Given the description of an element on the screen output the (x, y) to click on. 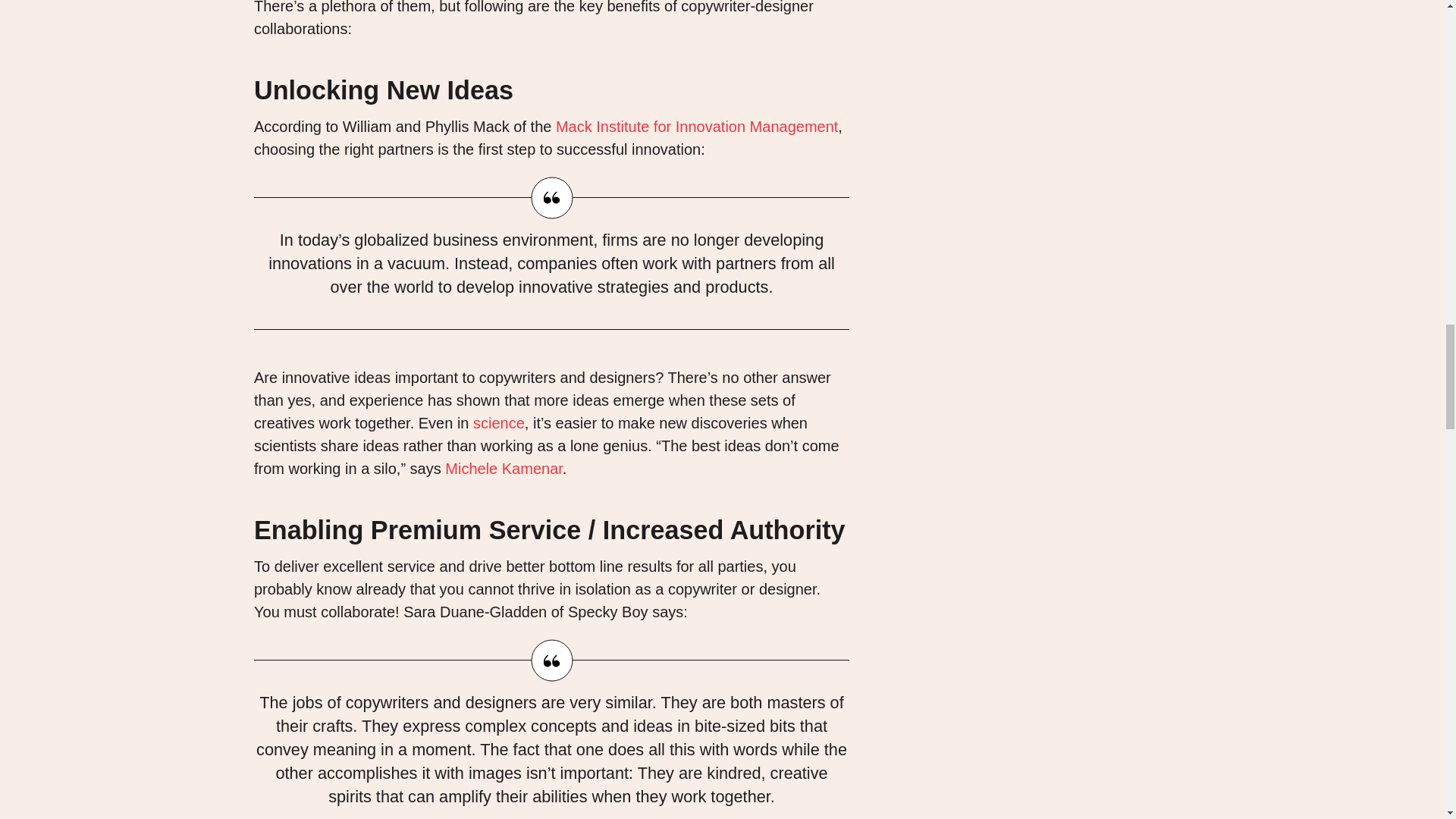
Michele Kamenar (503, 468)
Mack Institute for Innovation Management (697, 126)
science (498, 422)
